Given the description of an element on the screen output the (x, y) to click on. 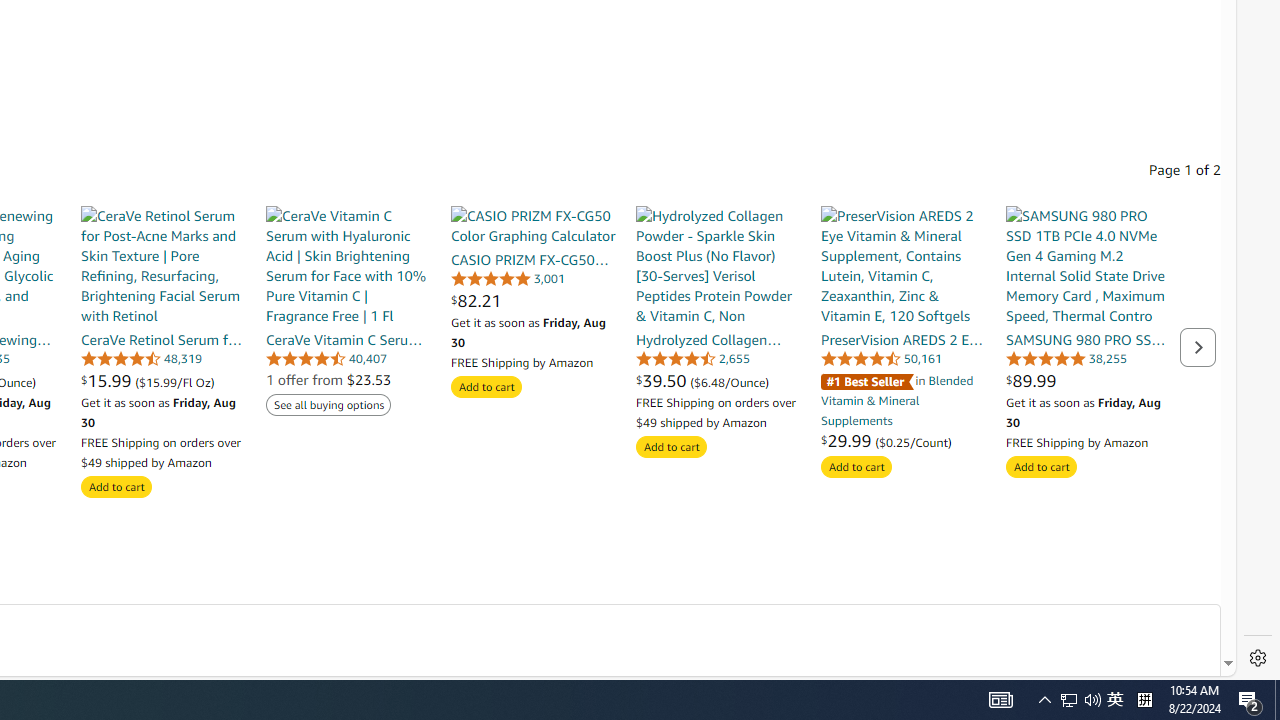
$82.21 (532, 299)
$89.99 (1088, 379)
($0.25/Count) (913, 441)
Add to cart (1041, 467)
($15.99/Fl Oz) (174, 381)
